Given the description of an element on the screen output the (x, y) to click on. 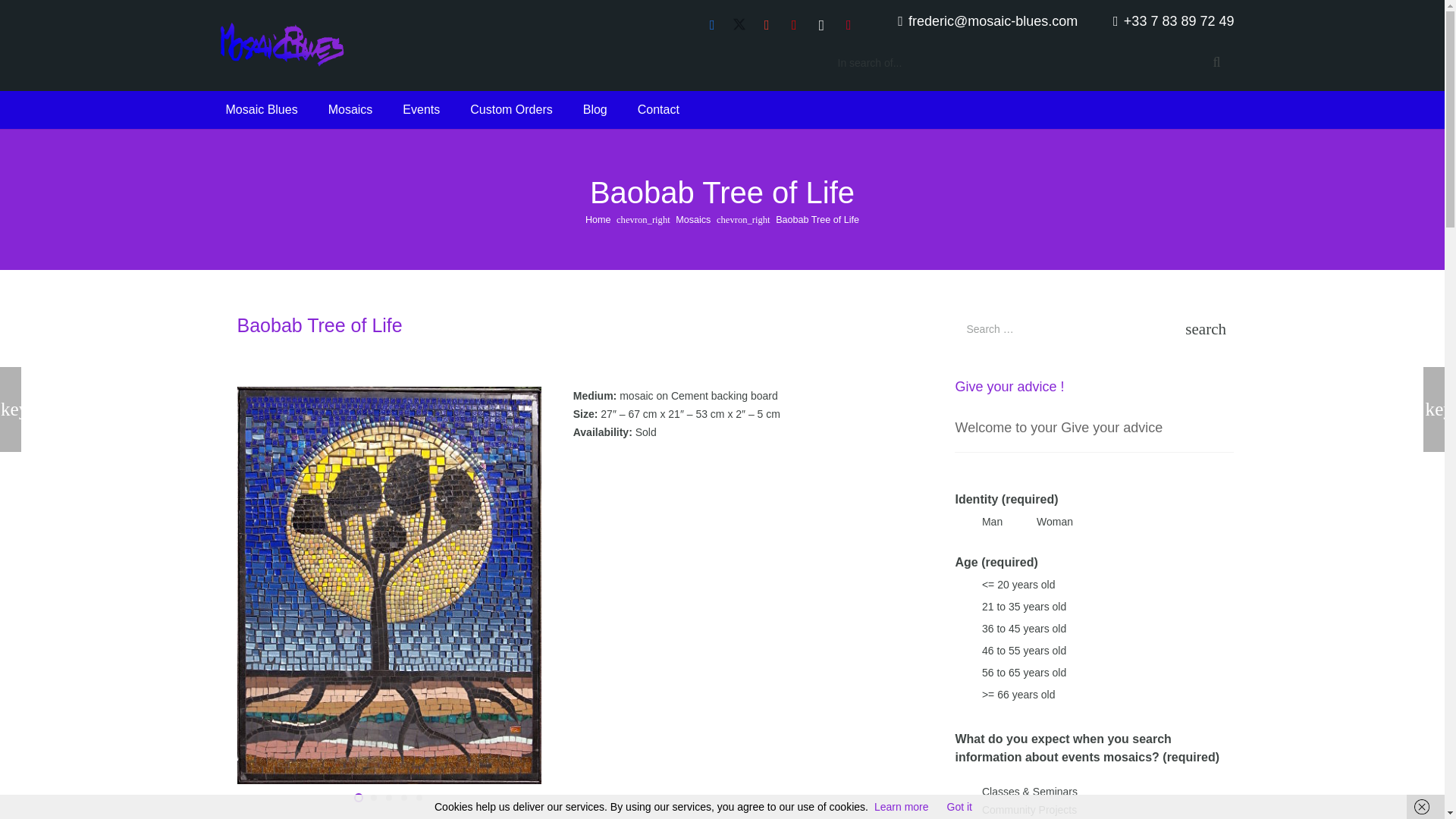
Mosaic Blues (262, 109)
0 (962, 791)
Google (766, 24)
1 (962, 809)
DESCRIPTION (395, 812)
Mosaics (692, 219)
ADDITIONAL INFORMATION (717, 812)
5 (962, 694)
Mosaics (350, 109)
Twitter (738, 24)
Baobab Tree of Life (817, 219)
0 (962, 521)
Instagram (821, 24)
2 (962, 628)
4 (962, 672)
